Given the description of an element on the screen output the (x, y) to click on. 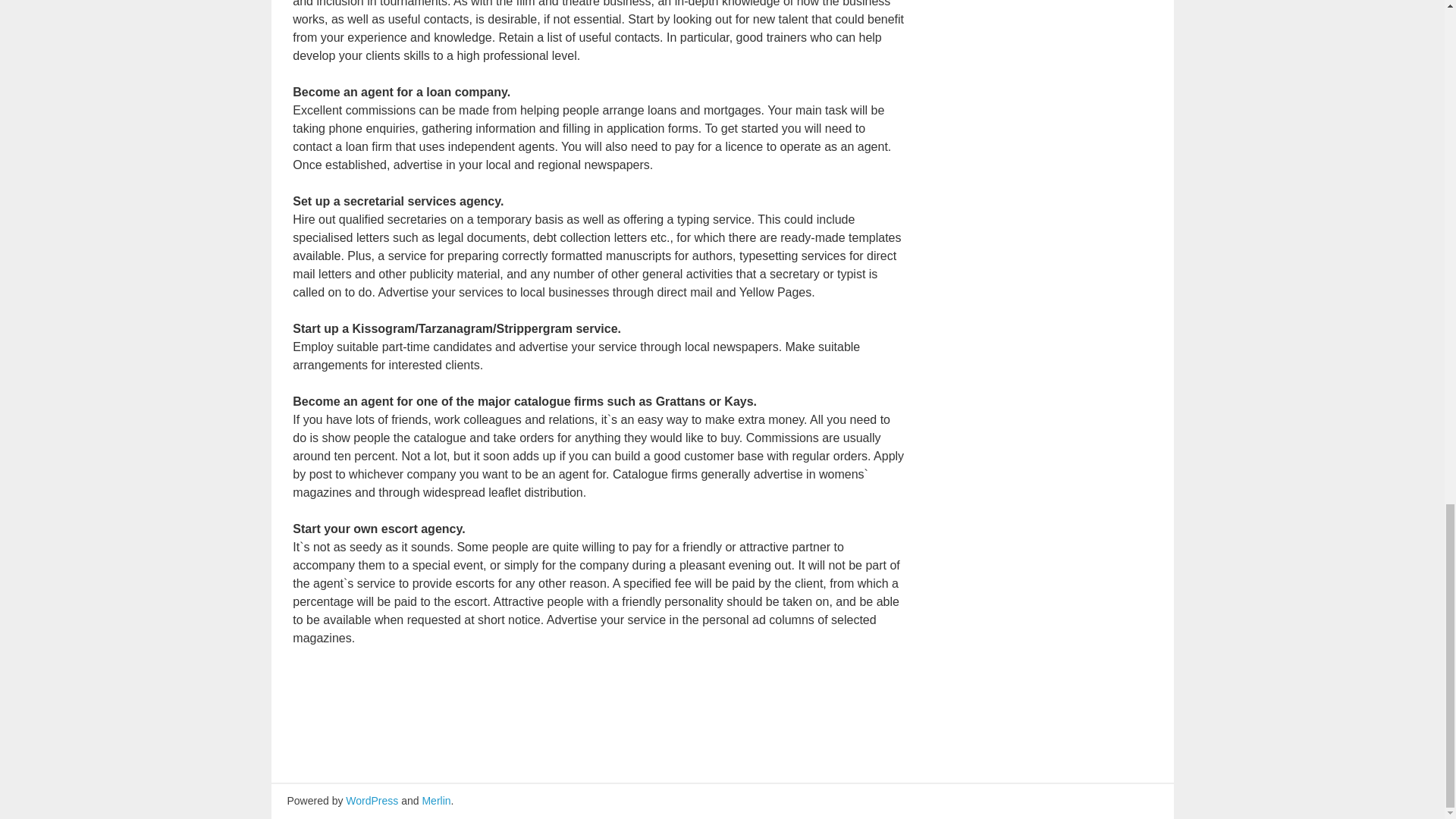
Merlin WordPress Theme (435, 800)
WordPress (371, 800)
